Given the description of an element on the screen output the (x, y) to click on. 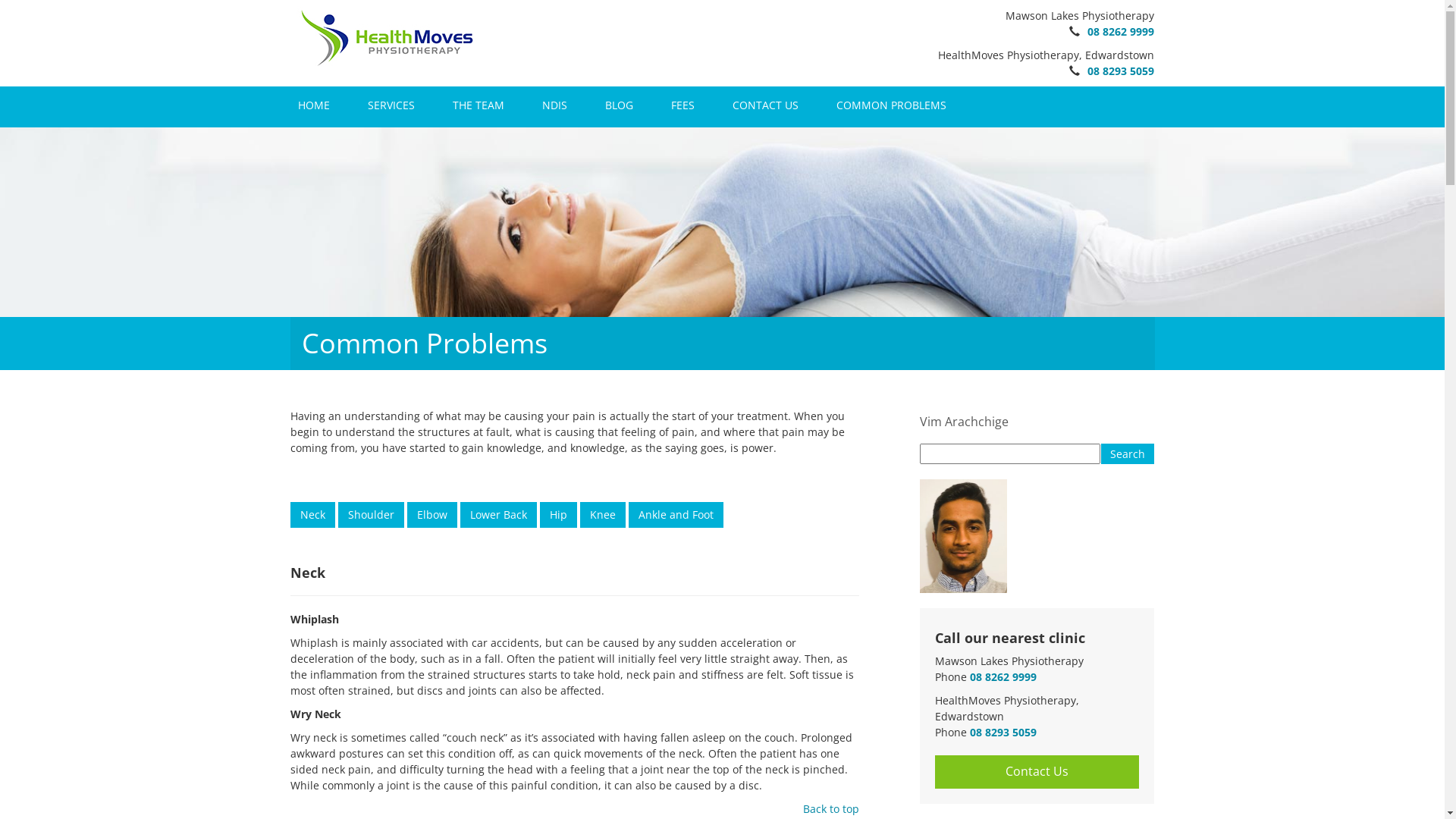
Hip Element type: text (558, 505)
SERVICES Element type: text (390, 104)
Shoulder Element type: text (371, 505)
Contact Us Element type: text (1036, 771)
CONTACT US Element type: text (765, 104)
Ankle and Foot Element type: text (674, 505)
Lower Back Element type: text (497, 505)
08 8293 5059 Element type: text (1120, 70)
Elbow Element type: text (431, 514)
Hip Element type: text (558, 514)
FEES Element type: text (681, 104)
COMMON PROBLEMS Element type: text (890, 104)
08 8293 5059 Element type: text (1002, 731)
08 8262 9999 Element type: text (1002, 676)
THE TEAM Element type: text (477, 104)
Neck Element type: text (311, 505)
Back to top Element type: text (830, 808)
Shoulder Element type: text (371, 514)
Elbow Element type: text (431, 505)
Knee Element type: text (601, 514)
08 8262 9999 Element type: text (1120, 31)
Lower Back Element type: text (497, 514)
Search Element type: text (1127, 453)
Ankle and Foot Element type: text (674, 514)
BLOG Element type: text (618, 104)
HOME Element type: text (312, 104)
Health-Moves-Physiotherapy-small Element type: hover (386, 37)
NDIS Element type: text (553, 104)
HealthMoves Physiotherapy Element type: hover (386, 36)
Neck Element type: text (311, 514)
Knee Element type: text (601, 505)
